Given the description of an element on the screen output the (x, y) to click on. 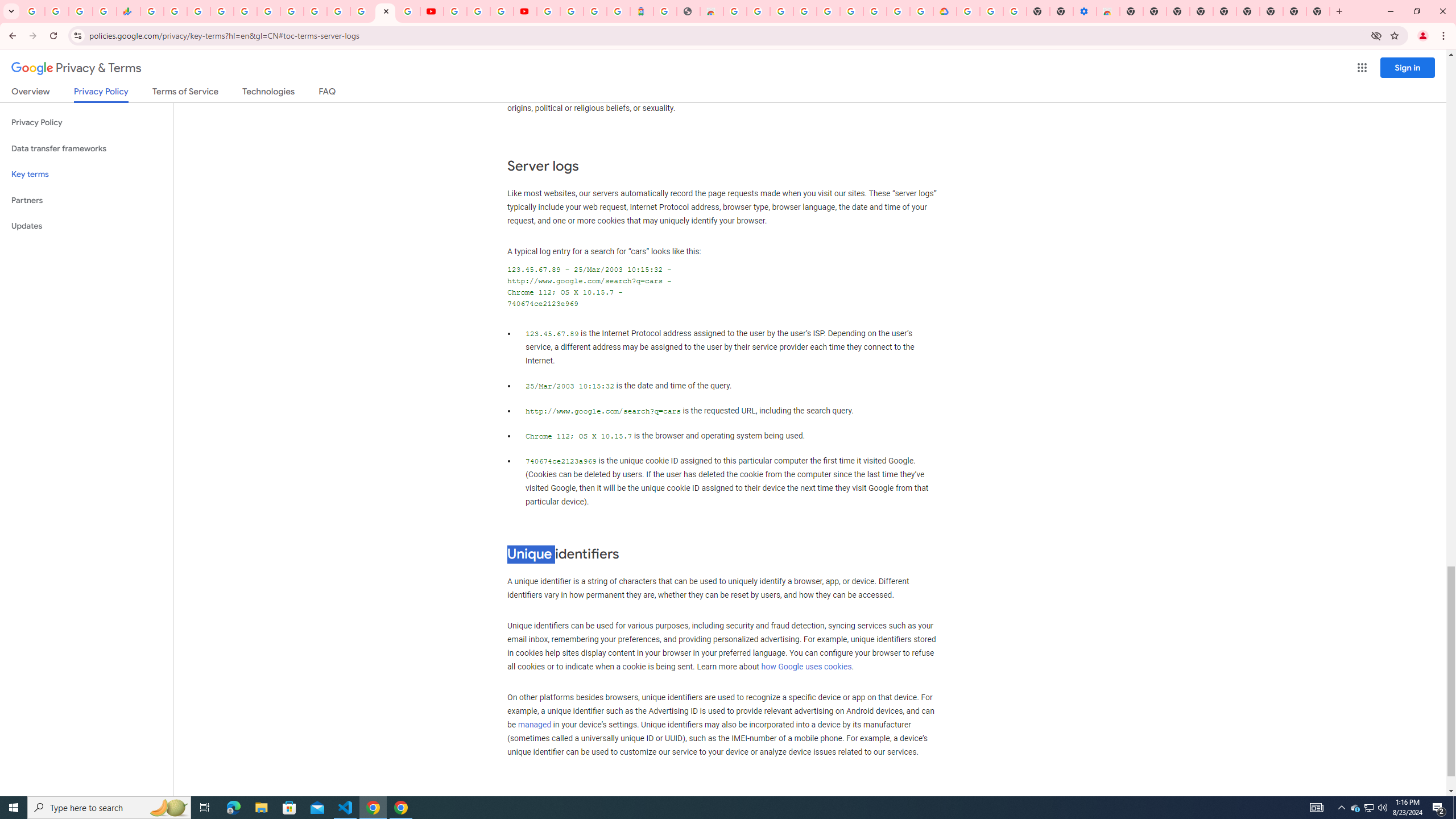
Google Account Help (850, 11)
Turn cookies on or off - Computer - Google Account Help (1015, 11)
Sign in - Google Accounts (968, 11)
Google Account Help (478, 11)
Atour Hotel - Google hotels (641, 11)
how Google uses cookies (806, 666)
YouTube (314, 11)
Privacy Checkup (408, 11)
